Given the description of an element on the screen output the (x, y) to click on. 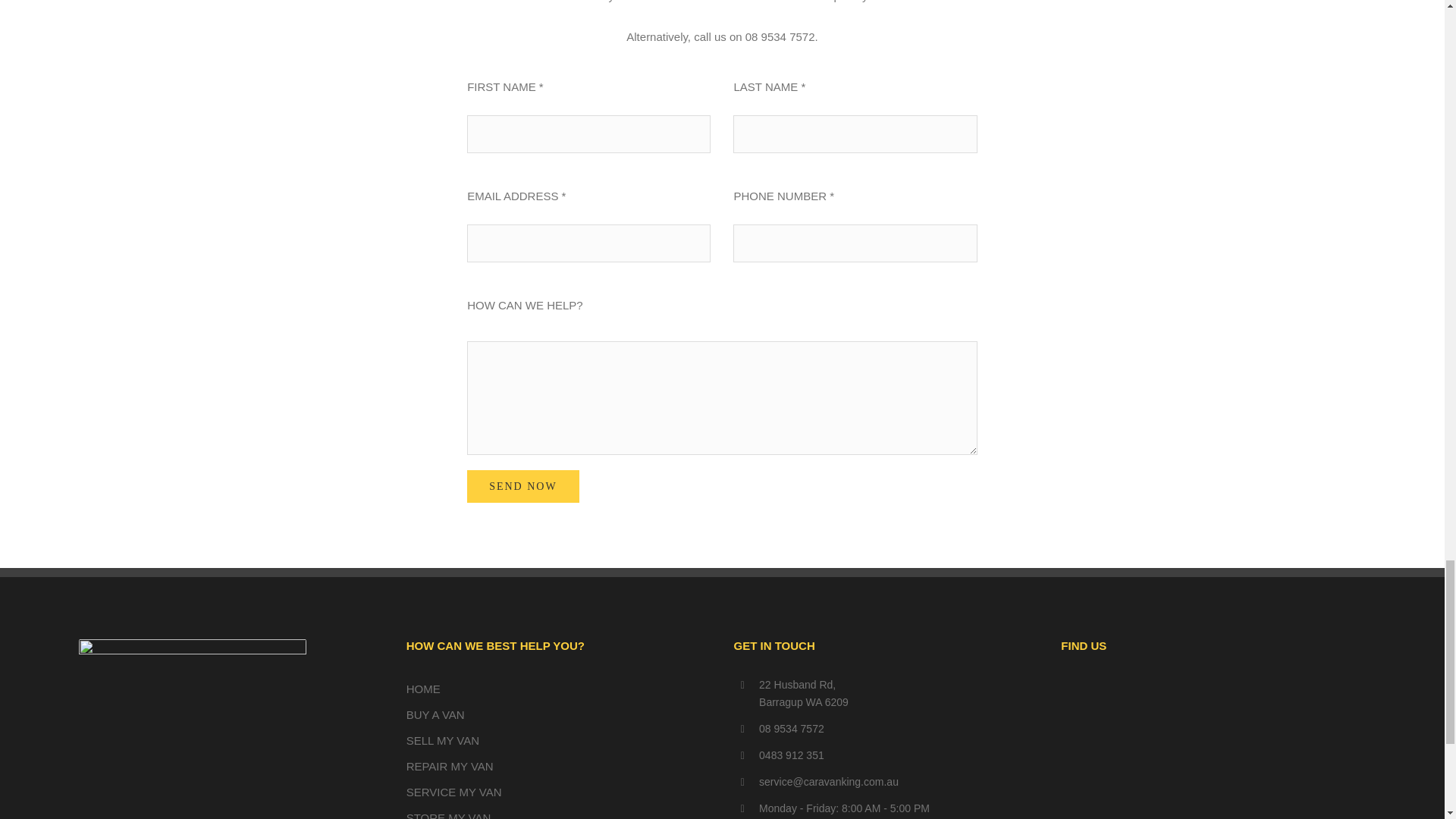
SEND NOW (523, 486)
HOME (423, 688)
SERVICE MY VAN (454, 791)
REPAIR MY VAN (449, 766)
SEND NOW (523, 486)
SELL MY VAN (442, 739)
BUY A VAN (435, 714)
